Given the description of an element on the screen output the (x, y) to click on. 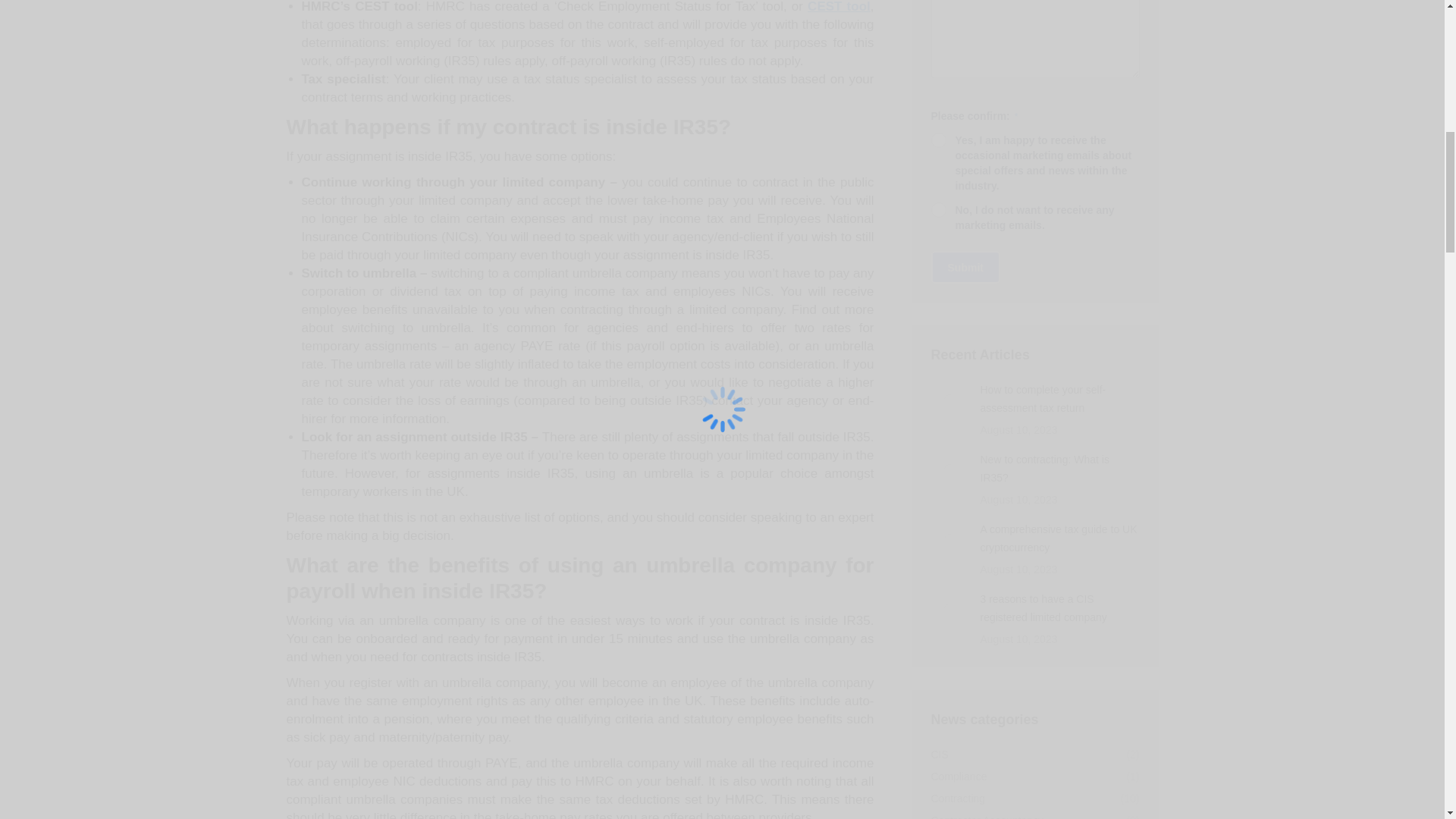
Submit (965, 266)
No, I do not want to receive any marketing emails. (938, 209)
